Given the description of an element on the screen output the (x, y) to click on. 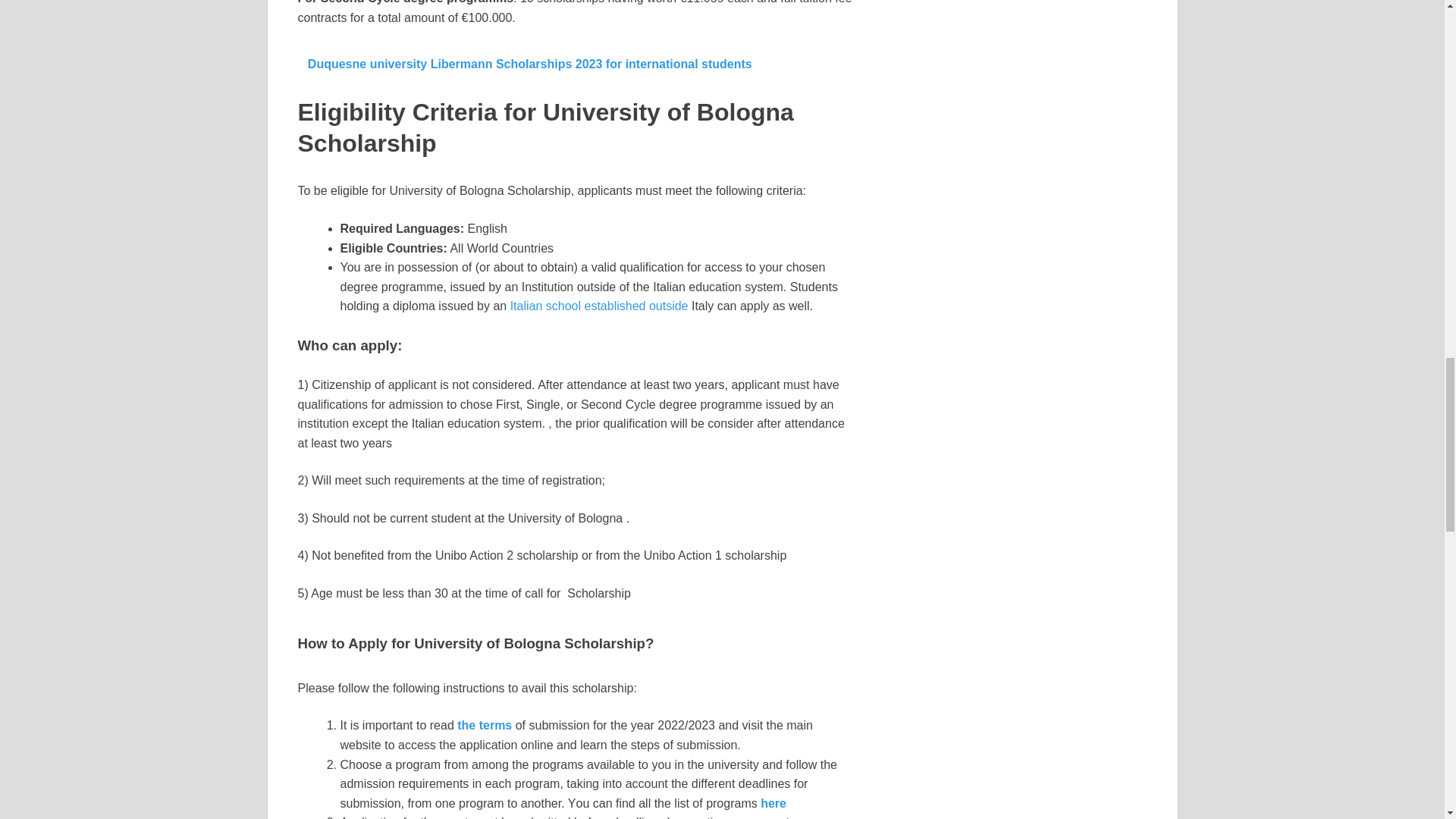
 the terms (483, 725)
Italian school established outside (599, 305)
here (773, 802)
